Given the description of an element on the screen output the (x, y) to click on. 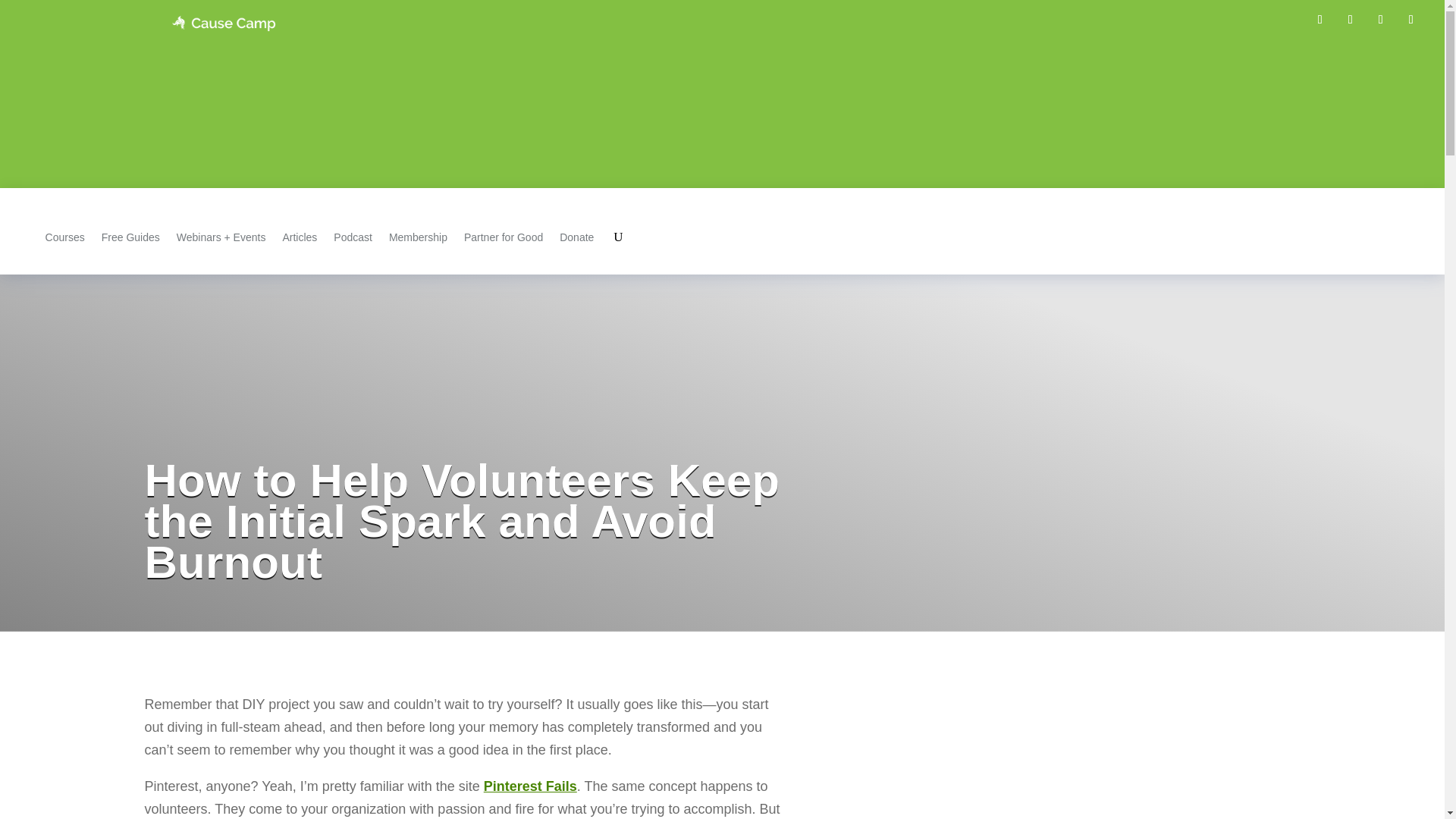
Courses (64, 237)
Follow on LinkedIn (1380, 19)
Donate (576, 237)
Follow on Facebook (1319, 19)
Free Guides (130, 237)
Follow on X (1350, 19)
Podcast (352, 237)
Articles (299, 237)
Pinterest Fails (529, 785)
Membership (417, 237)
Follow on Youtube (1411, 19)
Partner for Good (503, 237)
